Given the description of an element on the screen output the (x, y) to click on. 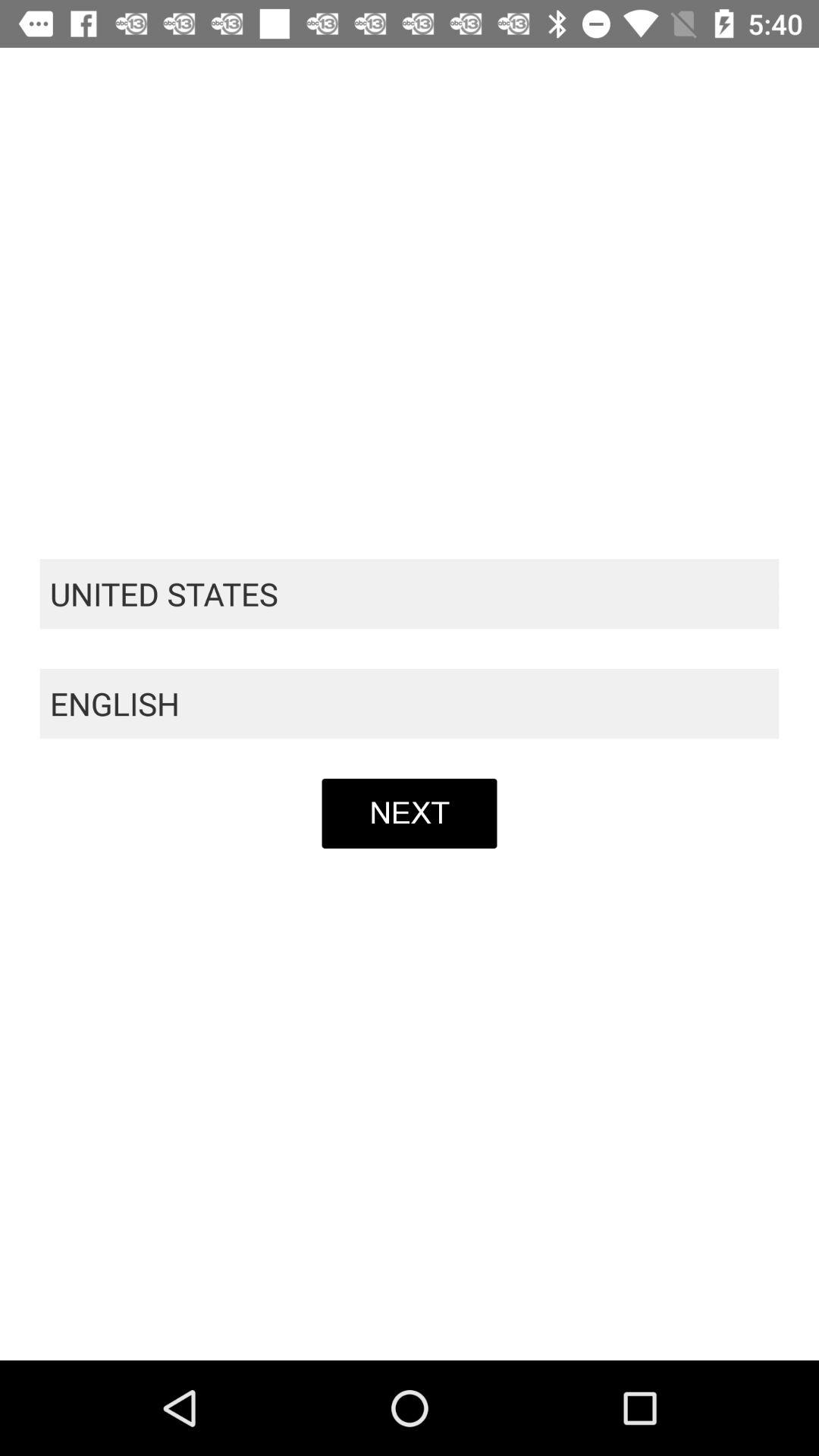
tap item below the english item (409, 813)
